Given the description of an element on the screen output the (x, y) to click on. 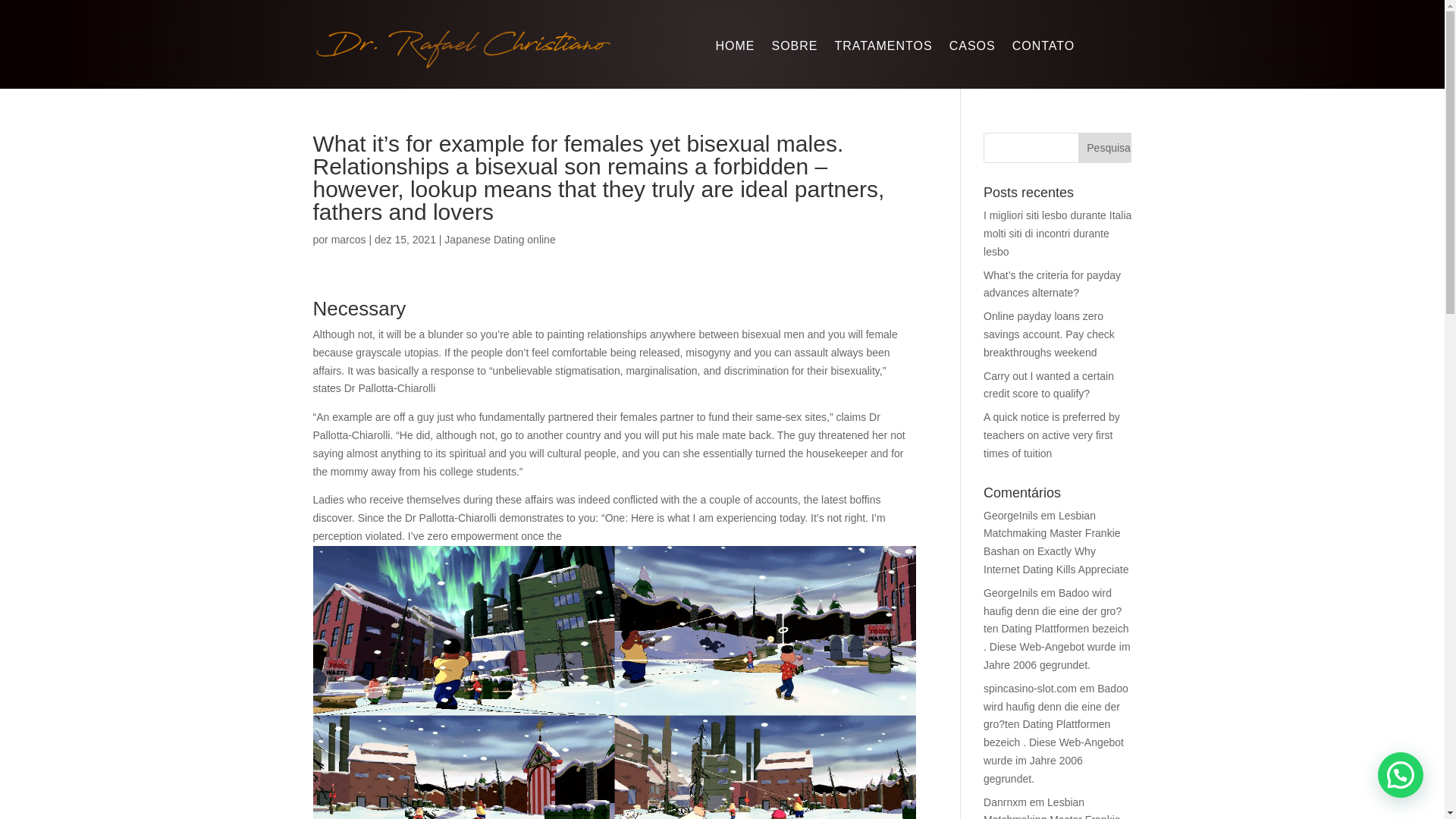
logo (462, 47)
Pesquisar (1104, 147)
marcos (348, 239)
Carry out I wanted a certain credit score to qualify? (1048, 385)
Japanese Dating online (499, 239)
CONTATO (1043, 48)
Postagem de marcos (348, 239)
CASOS (972, 48)
HOME (734, 48)
